Given the description of an element on the screen output the (x, y) to click on. 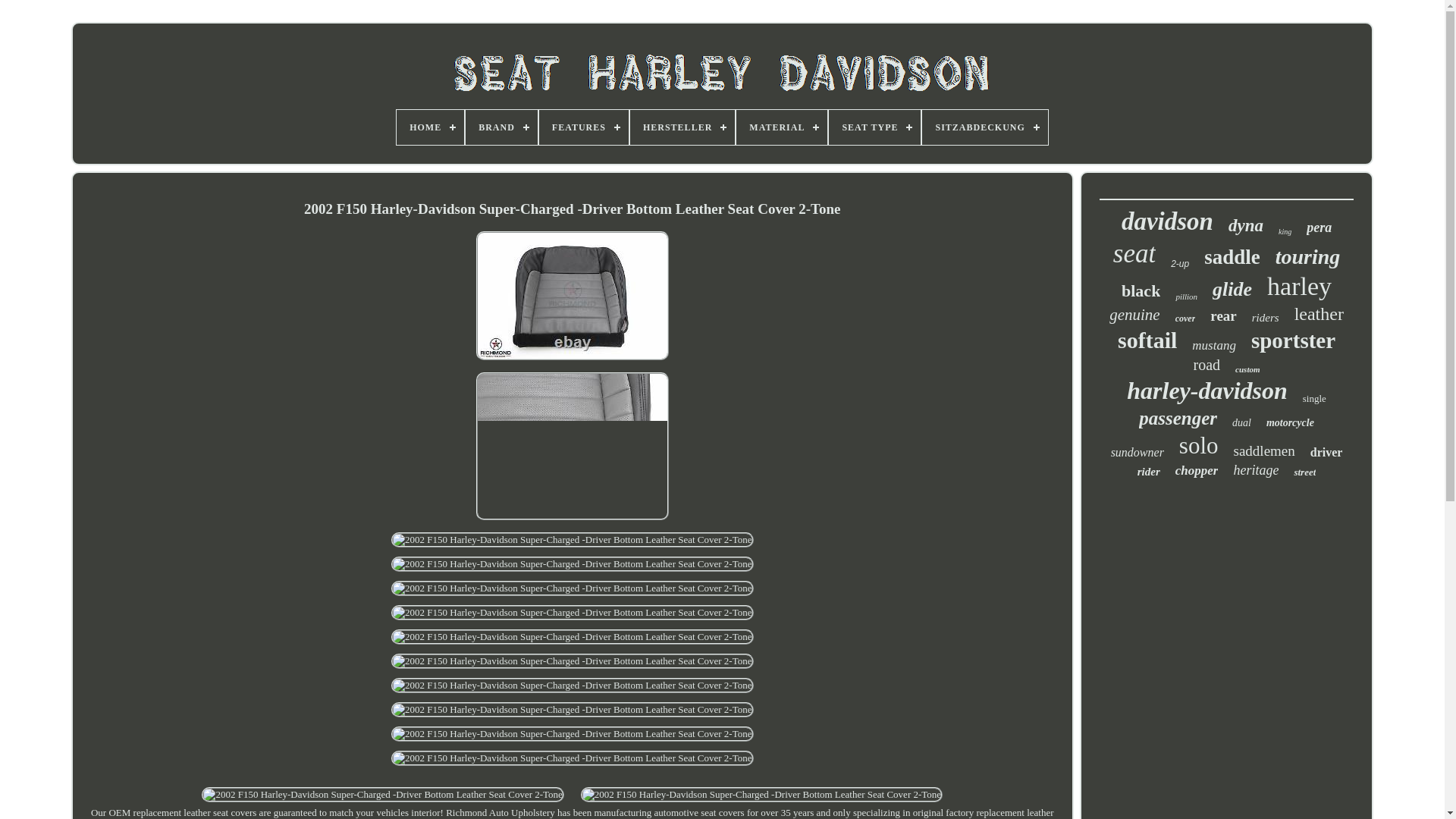
BRAND (501, 126)
HOME (430, 126)
FEATURES (583, 126)
